Given the description of an element on the screen output the (x, y) to click on. 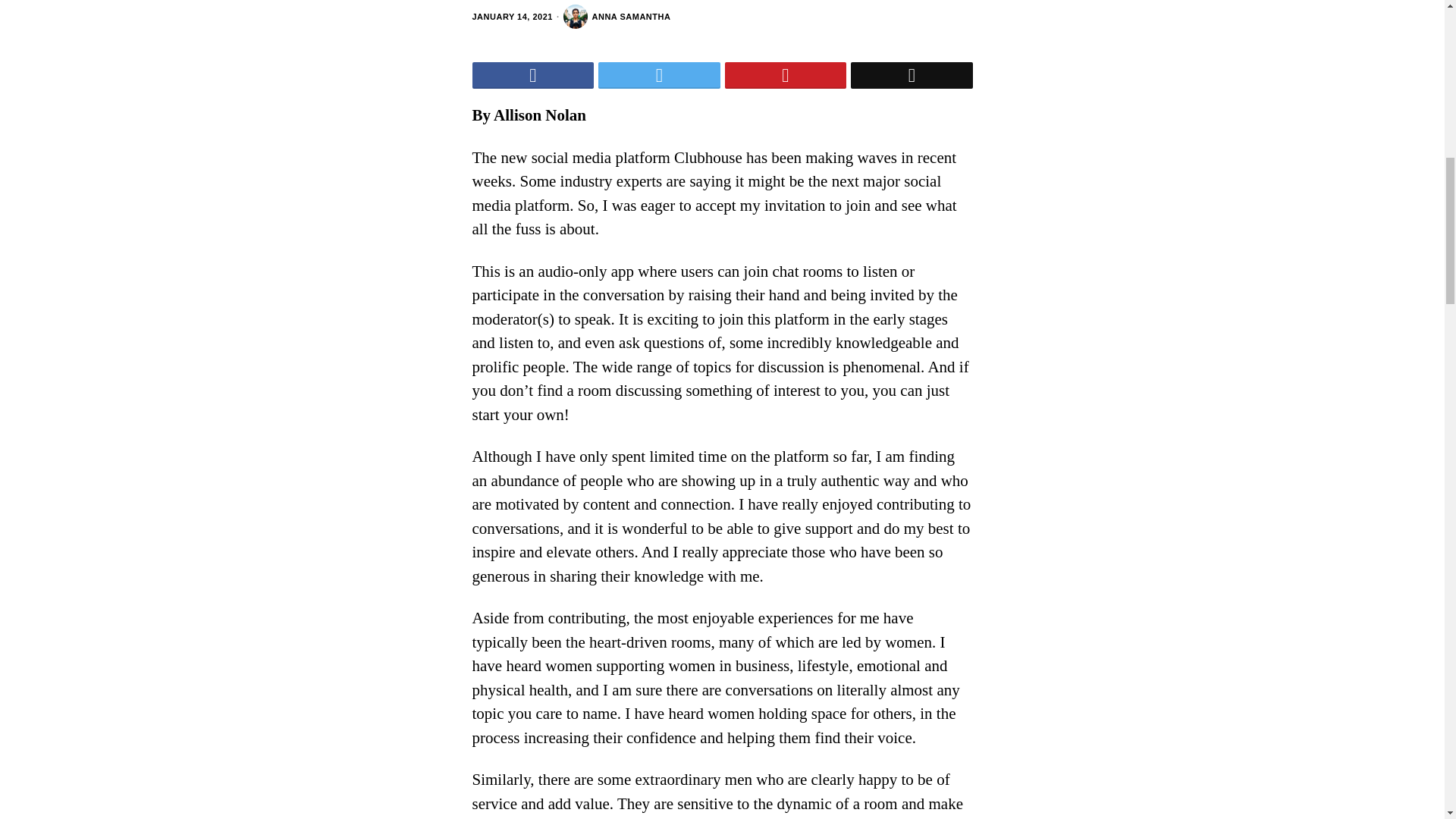
ANNA SAMANTHA (617, 16)
14 Jan, 2021 14:09:14 (511, 16)
